Given the description of an element on the screen output the (x, y) to click on. 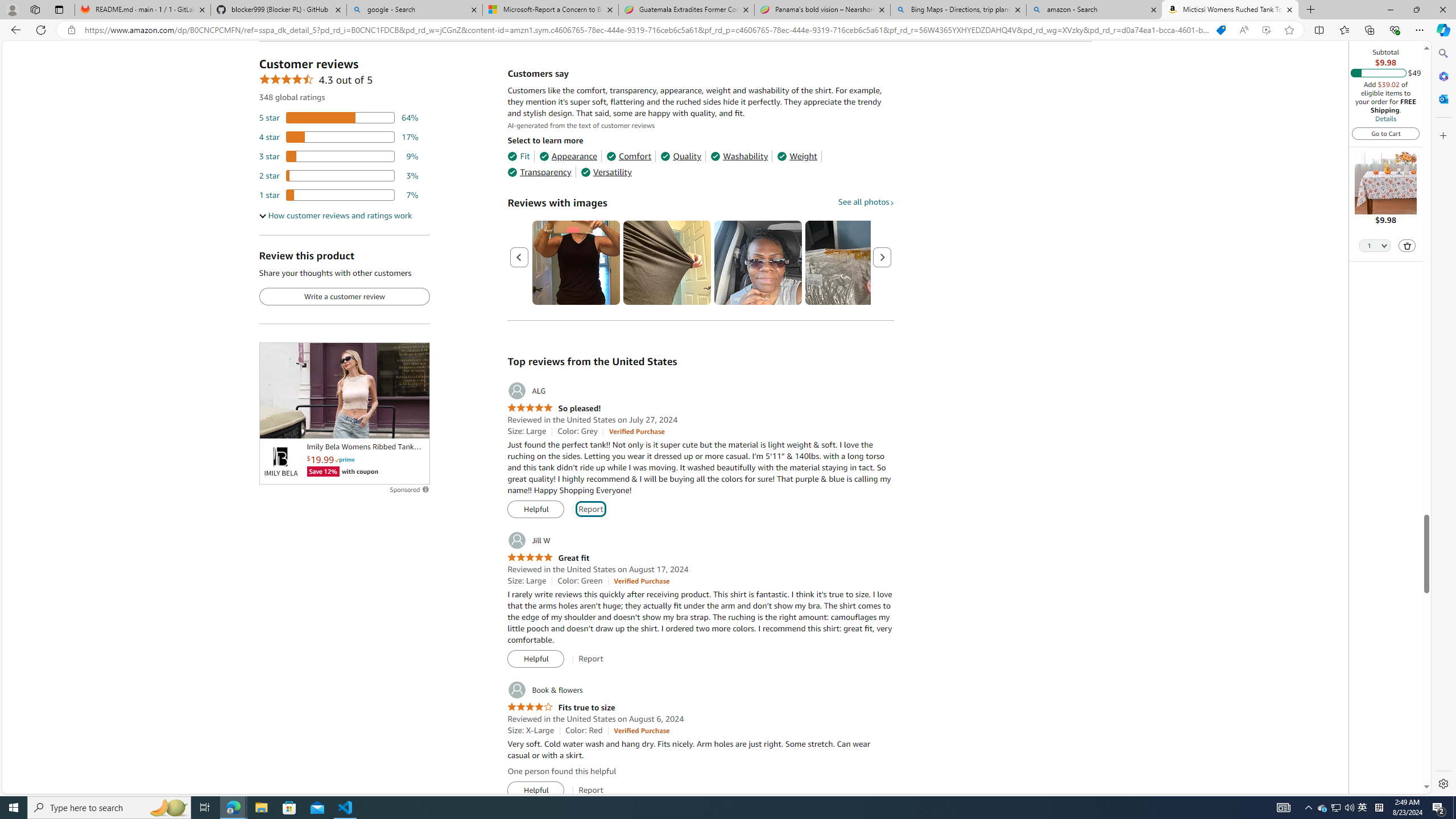
7 percent of reviews have 1 stars (339, 195)
5.0 out of 5 stars Great fit (547, 557)
9 percent of reviews have 3 stars (339, 156)
Washability (739, 156)
Logo (280, 461)
amazon - Search (1094, 9)
5.0 out of 5 stars So pleased! (553, 408)
